Given the description of an element on the screen output the (x, y) to click on. 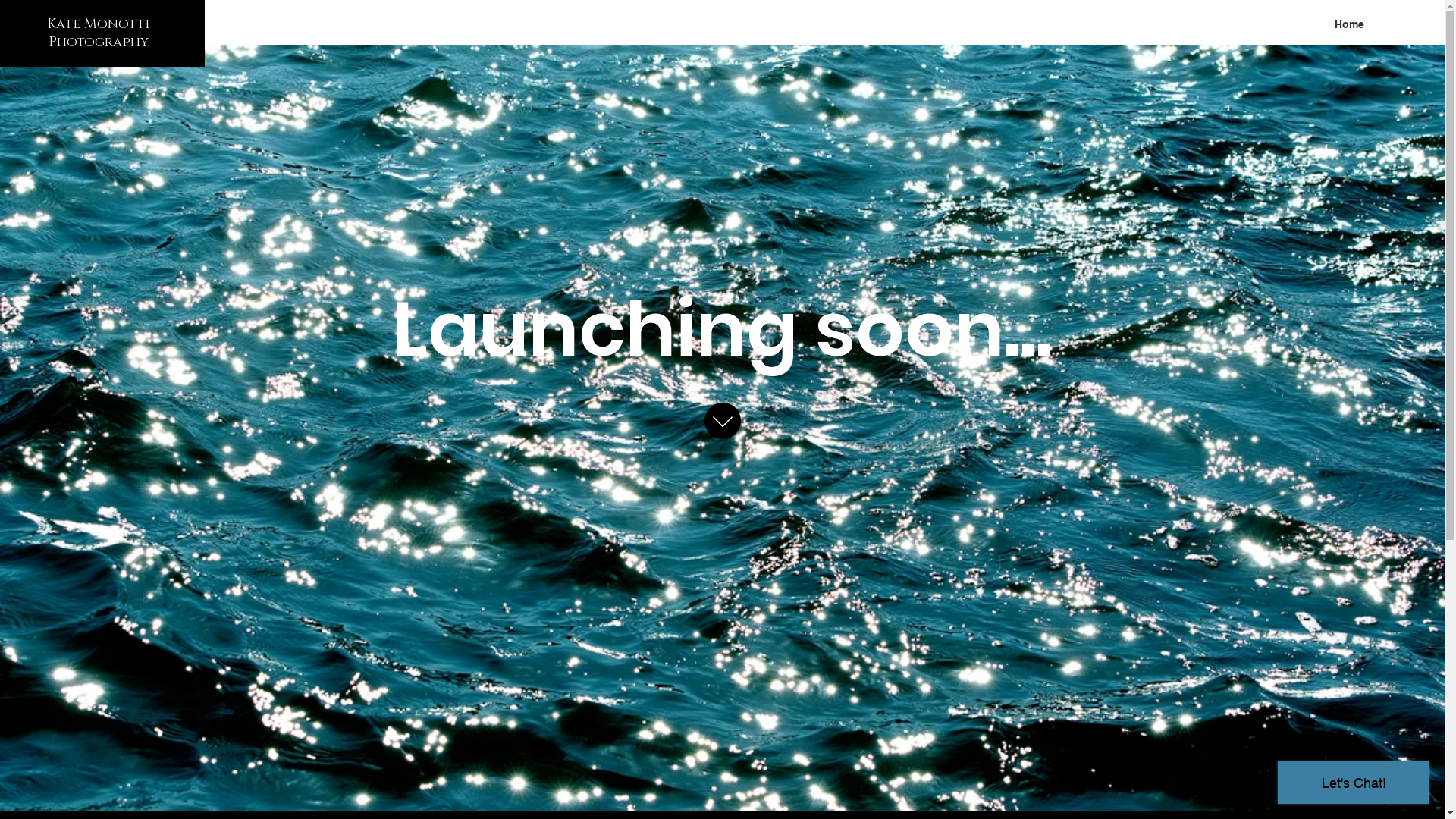
Home Element type: text (1349, 24)
Kate Monotti Photography Element type: text (98, 32)
